Given the description of an element on the screen output the (x, y) to click on. 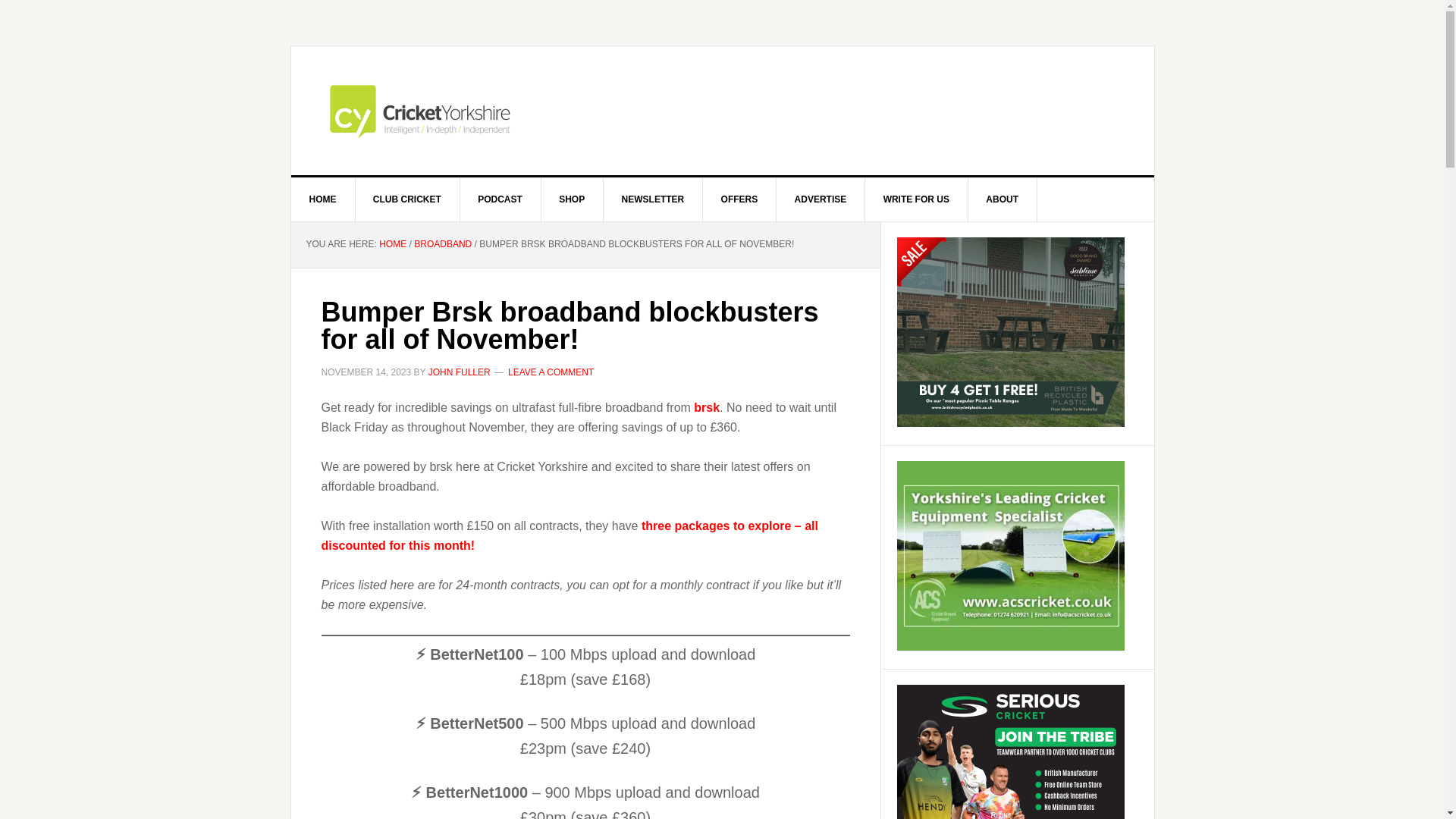
WRITE FOR US (916, 199)
HOME (392, 244)
LEAVE A COMMENT (551, 371)
ADVERTISE (821, 199)
CLUB CRICKET (407, 199)
SHOP (572, 199)
brsk (706, 407)
JOHN FULLER (459, 371)
OFFERS (740, 199)
NEWSLETTER (653, 199)
ABOUT (1002, 199)
HOME (323, 199)
CRICKET YORKSHIRE (722, 110)
PODCAST (500, 199)
